Given the description of an element on the screen output the (x, y) to click on. 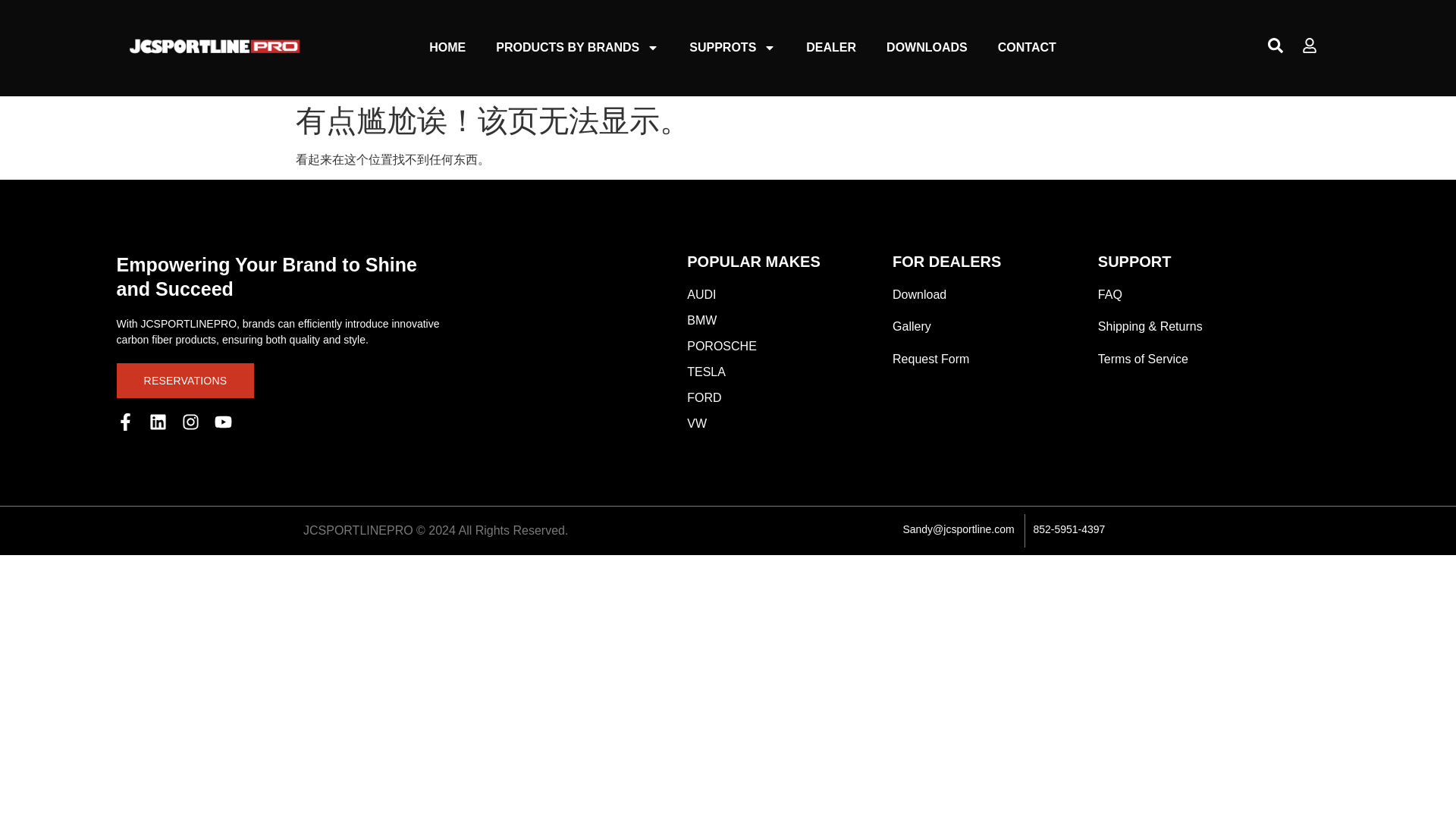
DEALER (830, 47)
PRODUCTS BY BRANDS (577, 47)
SUPPROTS (732, 47)
CONTACT (1026, 47)
HOME (446, 47)
DOWNLOADS (926, 47)
